Given the description of an element on the screen output the (x, y) to click on. 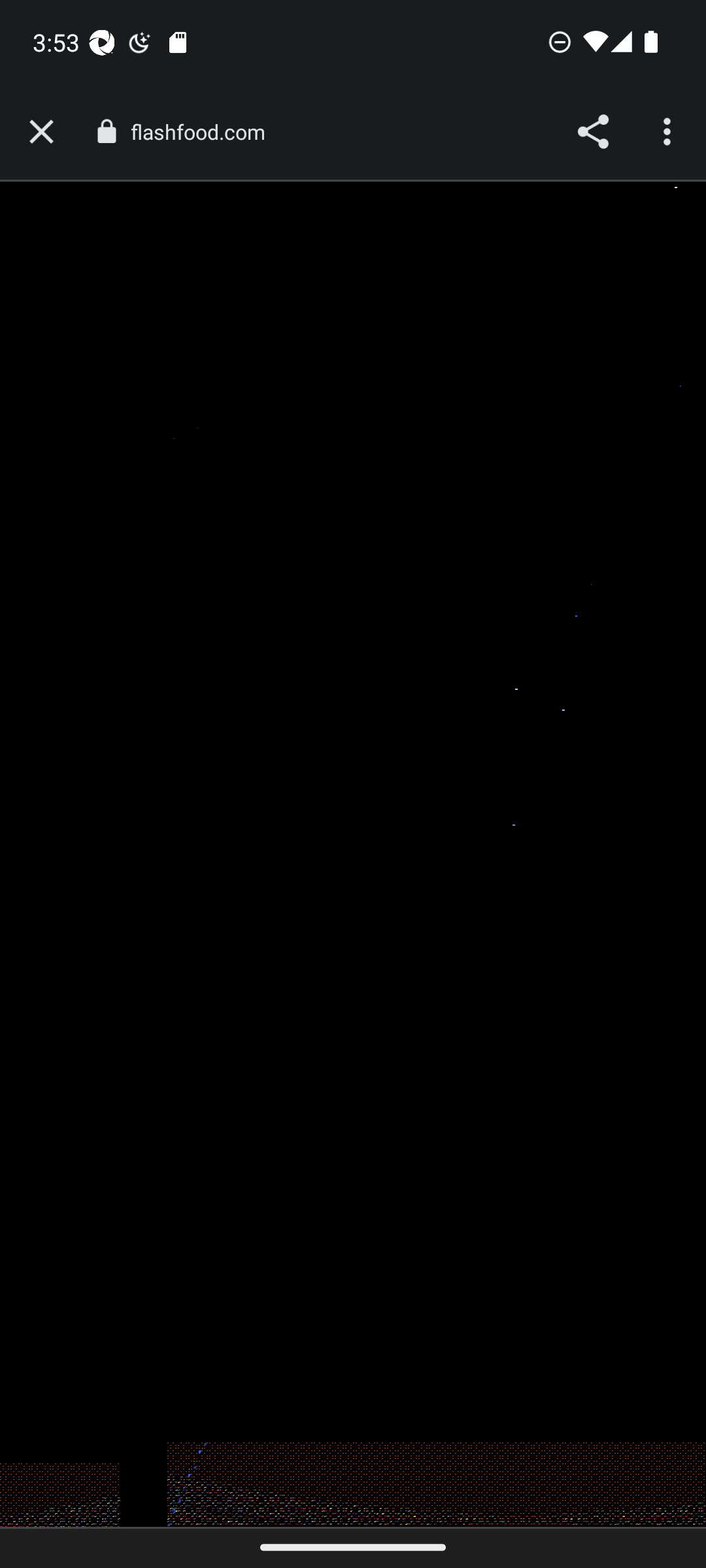
Close tab (41, 131)
Share (592, 131)
More options (669, 131)
Connection is secure (106, 131)
flashfood.com (204, 131)
